Given the description of an element on the screen output the (x, y) to click on. 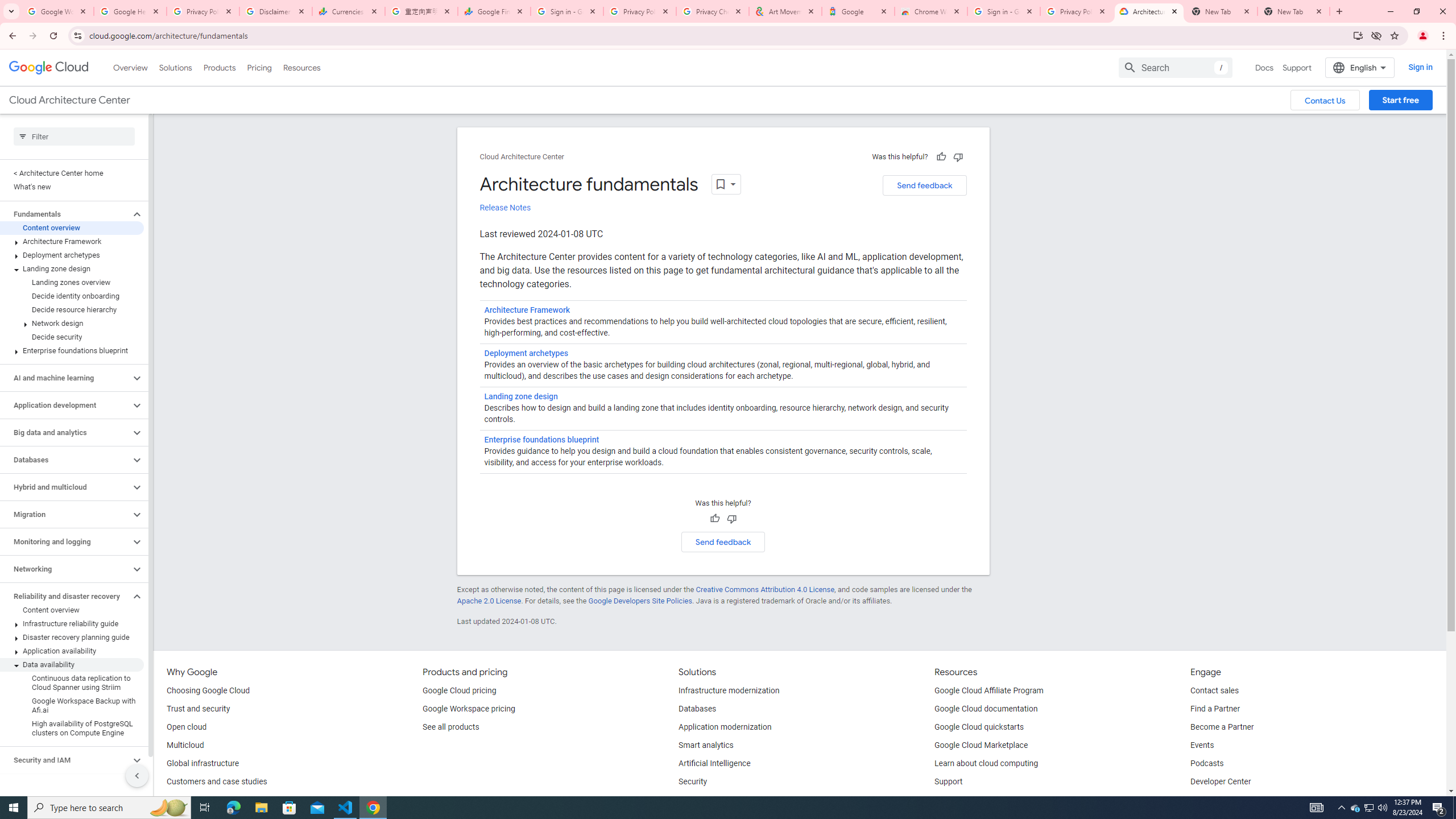
New Tab (1293, 11)
Enterprise foundations blueprint (541, 439)
Products (218, 67)
Artificial Intelligence (714, 764)
Security (692, 782)
Helpful (714, 518)
< Architecture Center home (72, 173)
Infrastructure reliability guide (72, 623)
Hybrid and multicloud (64, 486)
Content overview (72, 609)
